Given the description of an element on the screen output the (x, y) to click on. 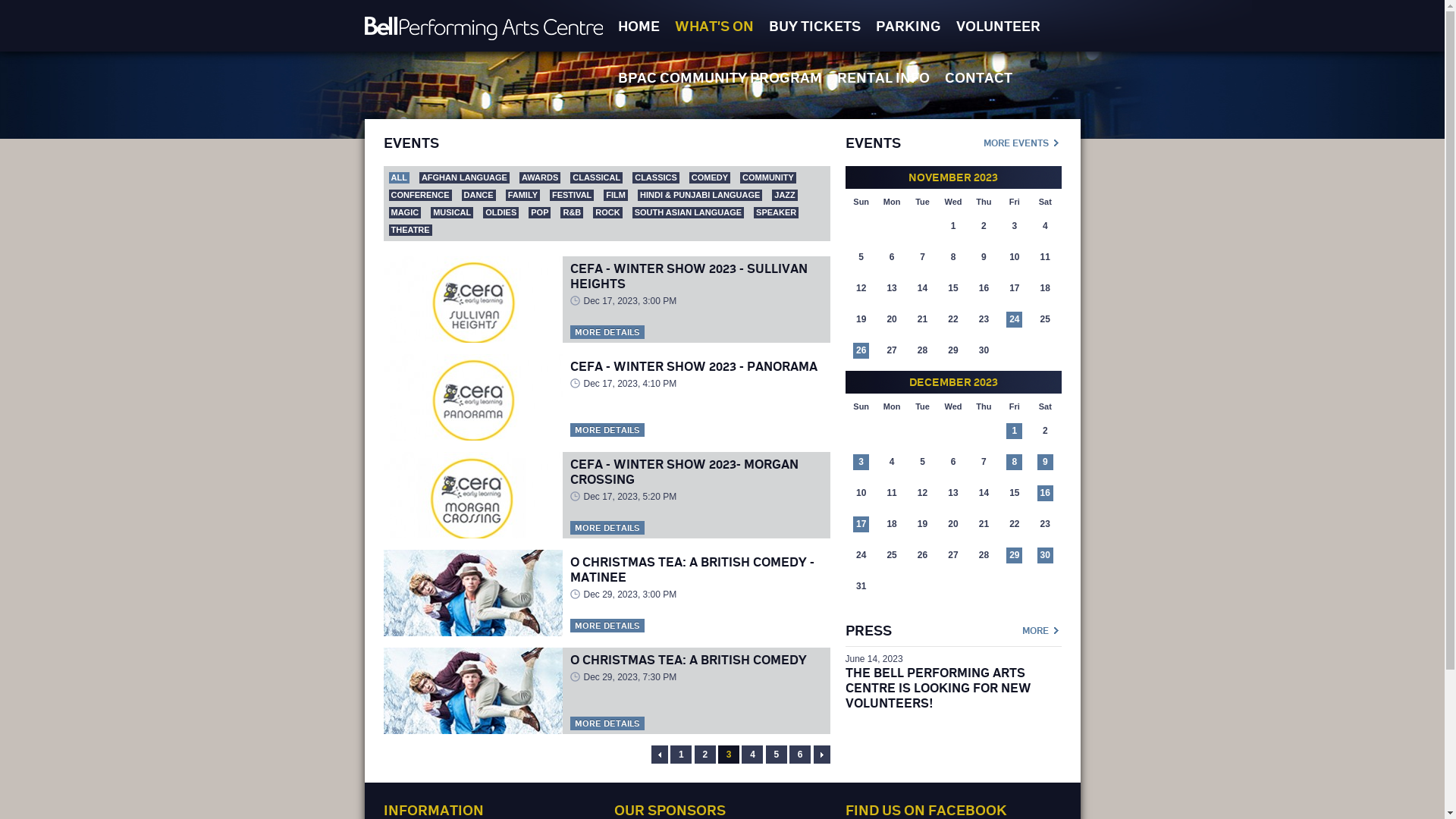
4 Element type: text (751, 754)
CEFA - WINTER SHOW 2023- MORGAN CROSSING Element type: text (684, 471)
AWARDS Element type: text (539, 177)
SPEAKER Element type: text (775, 212)
COMMUNITY Element type: text (768, 177)
3 Element type: text (728, 754)
MORE EVENTS Element type: text (1021, 140)
DANCE Element type: text (478, 194)
CLASSICS Element type: text (655, 177)
CLASSICAL Element type: text (596, 177)
CEFA - WINTER SHOW 2023 - SULLIVAN HEIGHTS Element type: text (688, 275)
5 Element type: text (776, 754)
JAZZ Element type: text (784, 194)
POP Element type: text (539, 212)
COMEDY Element type: text (709, 177)
MORE DETAILS Element type: text (607, 429)
MORE DETAILS Element type: text (607, 723)
FILM Element type: text (615, 194)
PREVIOUS Element type: text (659, 754)
ALL Element type: text (398, 177)
MORE DETAILS Element type: text (607, 625)
FAMILY Element type: text (522, 194)
HINDI & PUNJABI LANGUAGE Element type: text (699, 194)
R&B Element type: text (571, 212)
OLDIES Element type: text (500, 212)
CEFA - WINTER SHOW 2023 - PANORAMA Element type: text (693, 365)
O CHRISTMAS TEA: A BRITISH COMEDY - MATINEE Element type: text (692, 569)
WHAT'S ON Element type: text (713, 25)
HOME Element type: text (638, 25)
VOLUNTEER Element type: text (998, 25)
MUSICAL Element type: text (451, 212)
1 Element type: text (680, 754)
BPAC COMMUNITY PROGRAM Element type: text (720, 77)
ROCK Element type: text (607, 212)
2 Element type: text (704, 754)
RENTAL INFO Element type: text (883, 77)
CONFERENCE Element type: text (419, 194)
MAGIC Element type: text (404, 212)
MORE DETAILS Element type: text (607, 331)
PARKING Element type: text (908, 25)
FESTIVAL Element type: text (571, 194)
THEATRE Element type: text (409, 229)
AFGHAN LANGUAGE Element type: text (464, 177)
CONTACT Element type: text (978, 77)
MORE Element type: text (1041, 628)
6 Element type: text (799, 754)
O CHRISTMAS TEA: A BRITISH COMEDY Element type: text (688, 659)
SOUTH ASIAN LANGUAGE Element type: text (687, 212)
MORE DETAILS Element type: text (607, 527)
NEXT Element type: text (820, 754)
BUY TICKETS Element type: text (814, 25)
